Given the description of an element on the screen output the (x, y) to click on. 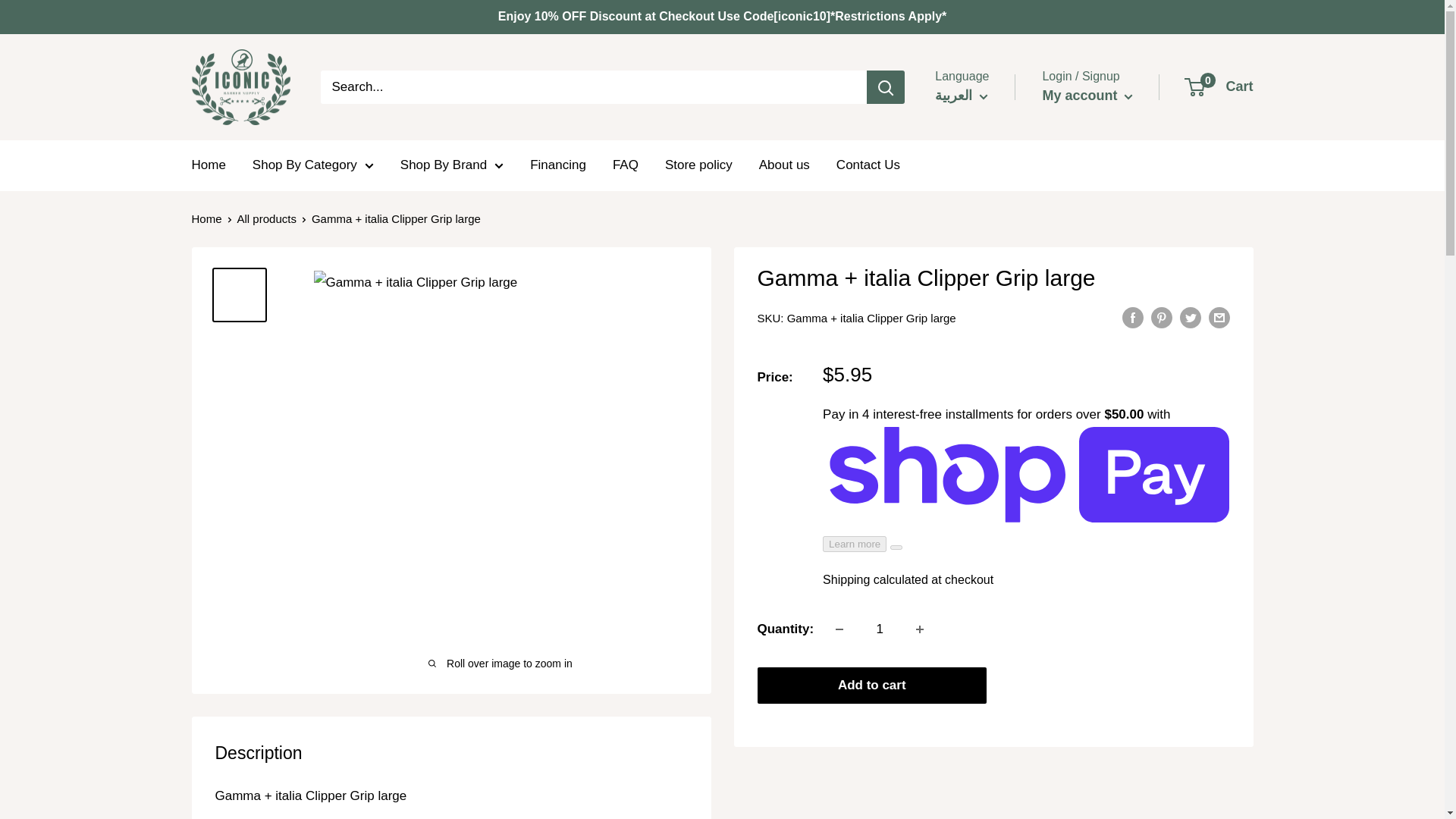
Decrease quantity by 1 (840, 629)
Increase quantity by 1 (920, 629)
1 (880, 629)
